Given the description of an element on the screen output the (x, y) to click on. 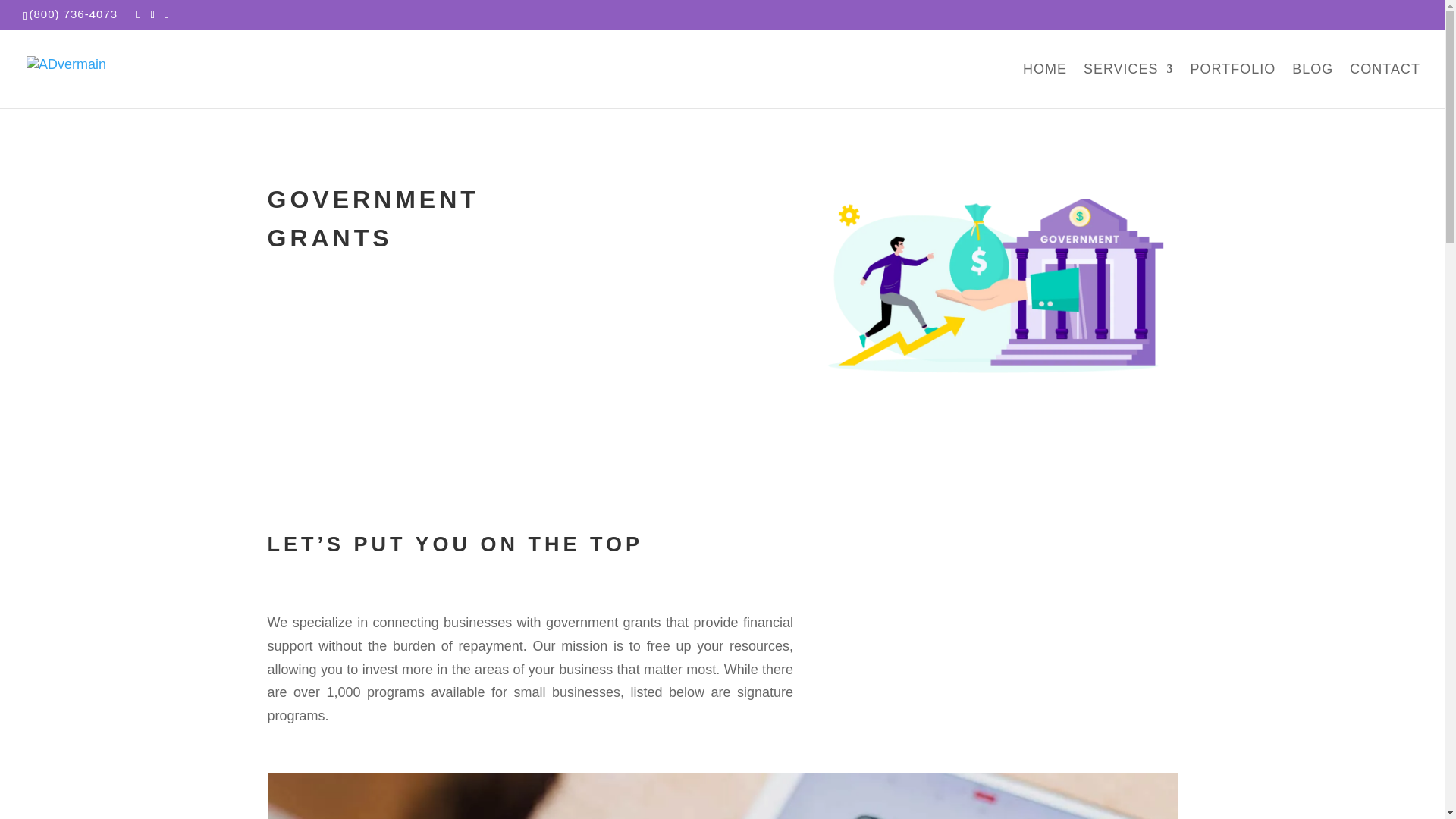
HOME (1045, 85)
seo-specialist-1 (721, 796)
VIEW PROGRAMS (1010, 626)
Government Grant (994, 285)
SERVICES (1128, 85)
CONTACT (1385, 85)
PORTFOLIO (1233, 85)
BLOG (1312, 85)
